Given the description of an element on the screen output the (x, y) to click on. 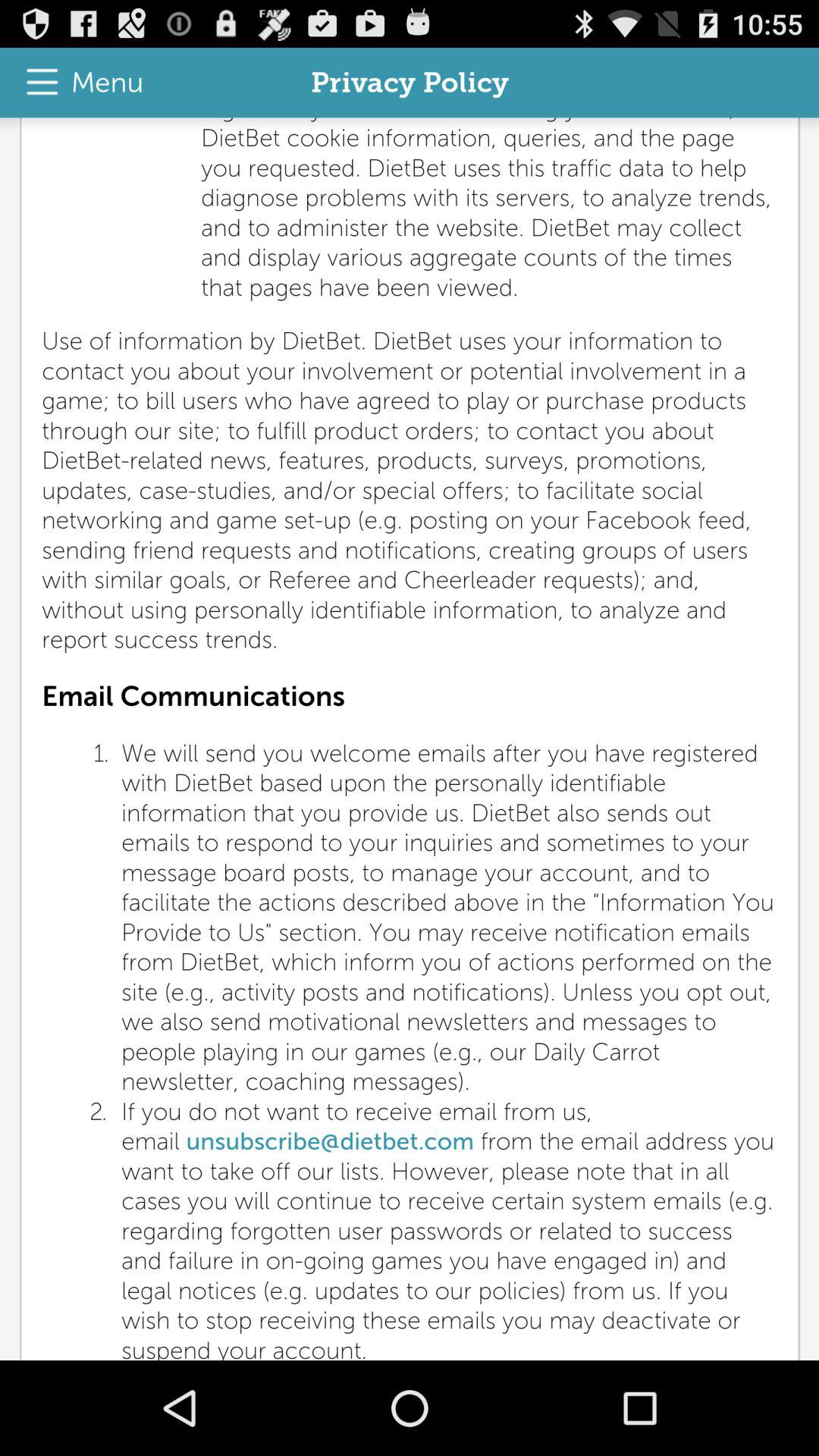
click the app next to the privacy policy item (76, 82)
